Given the description of an element on the screen output the (x, y) to click on. 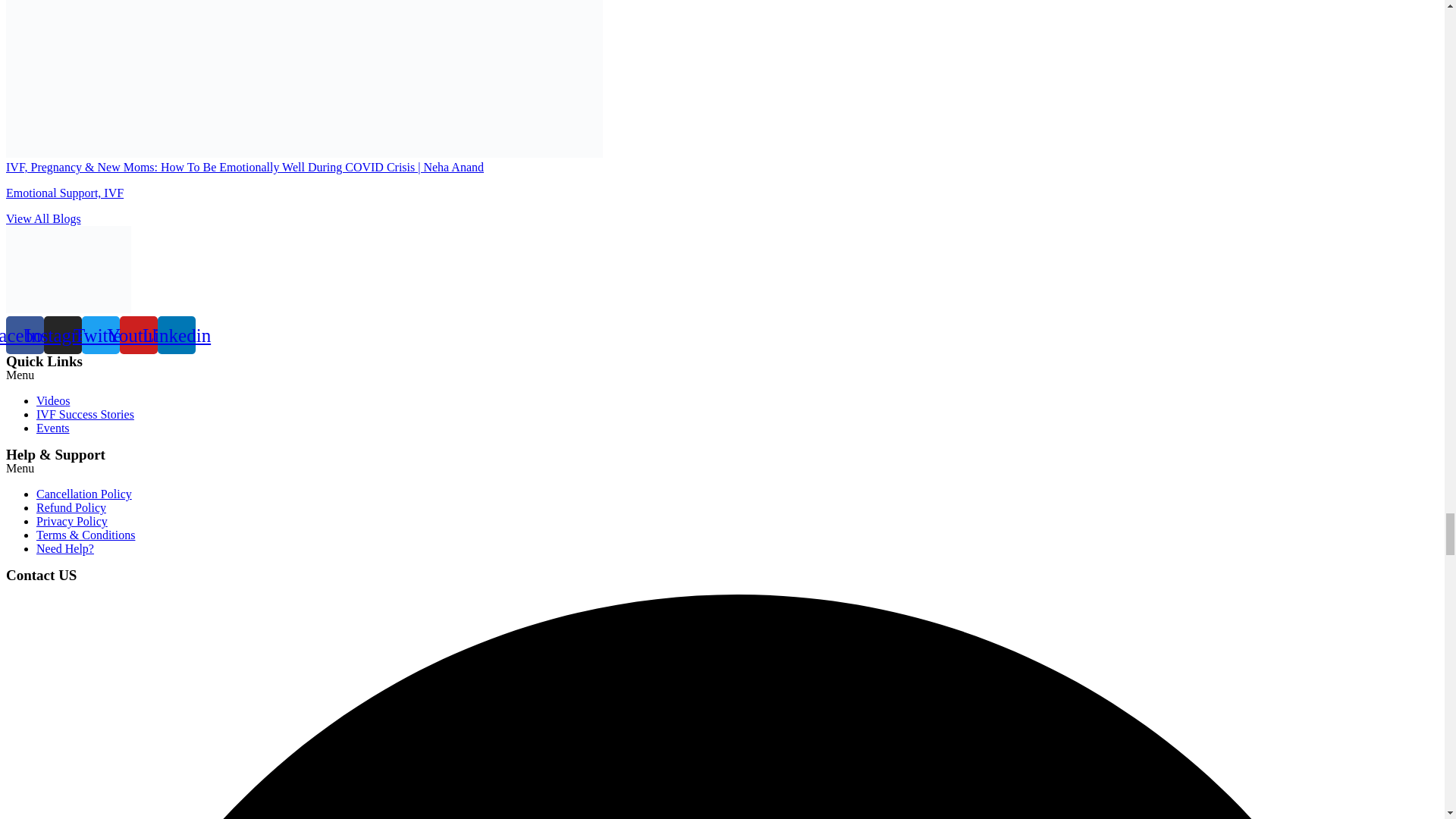
View All Blogs (43, 218)
Youtube (138, 334)
Twitter (100, 334)
Facebook (24, 334)
Instagram (62, 334)
